Given the description of an element on the screen output the (x, y) to click on. 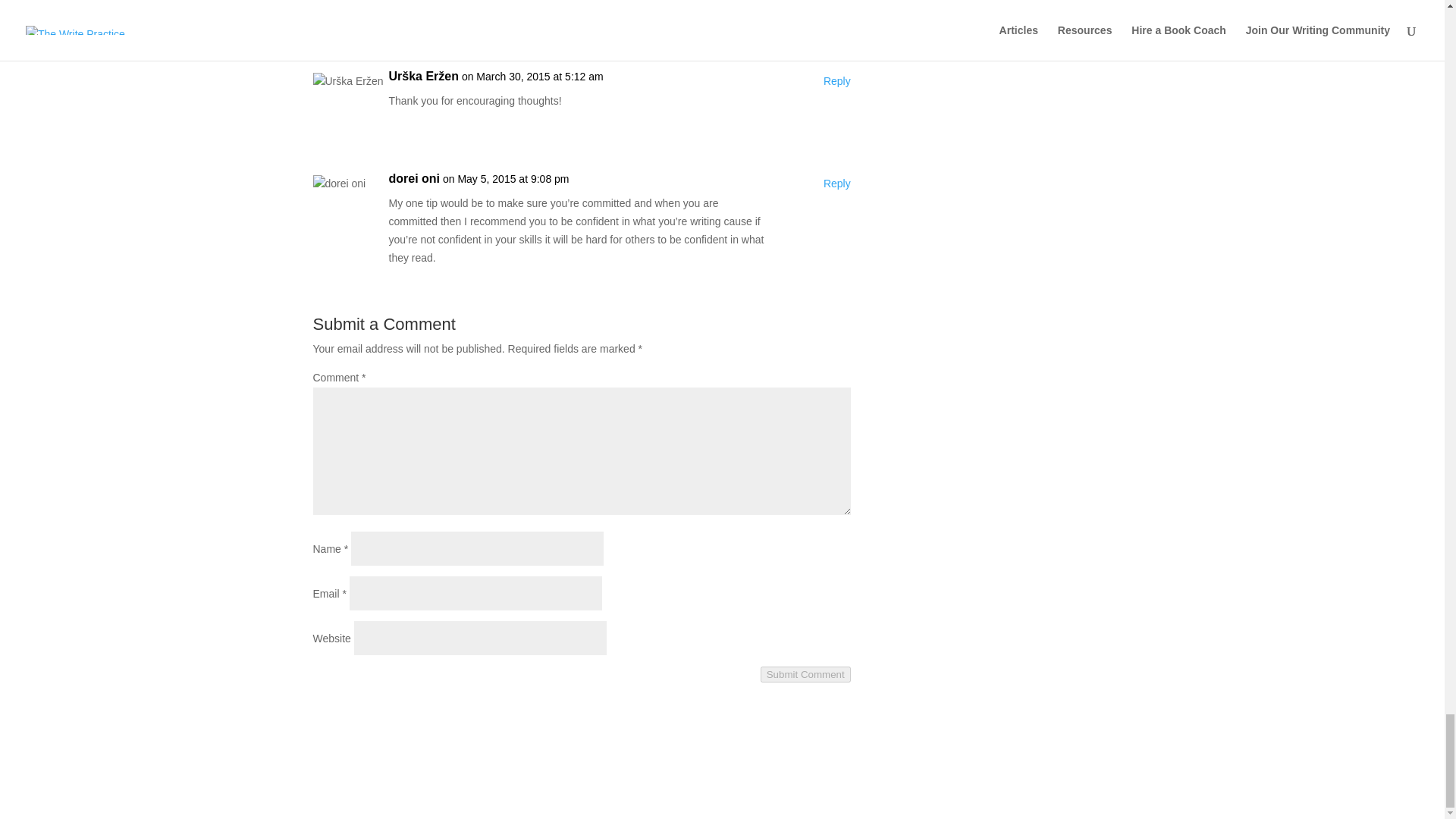
Submit Comment (805, 674)
Reply (837, 184)
Reply (837, 81)
